Given the description of an element on the screen output the (x, y) to click on. 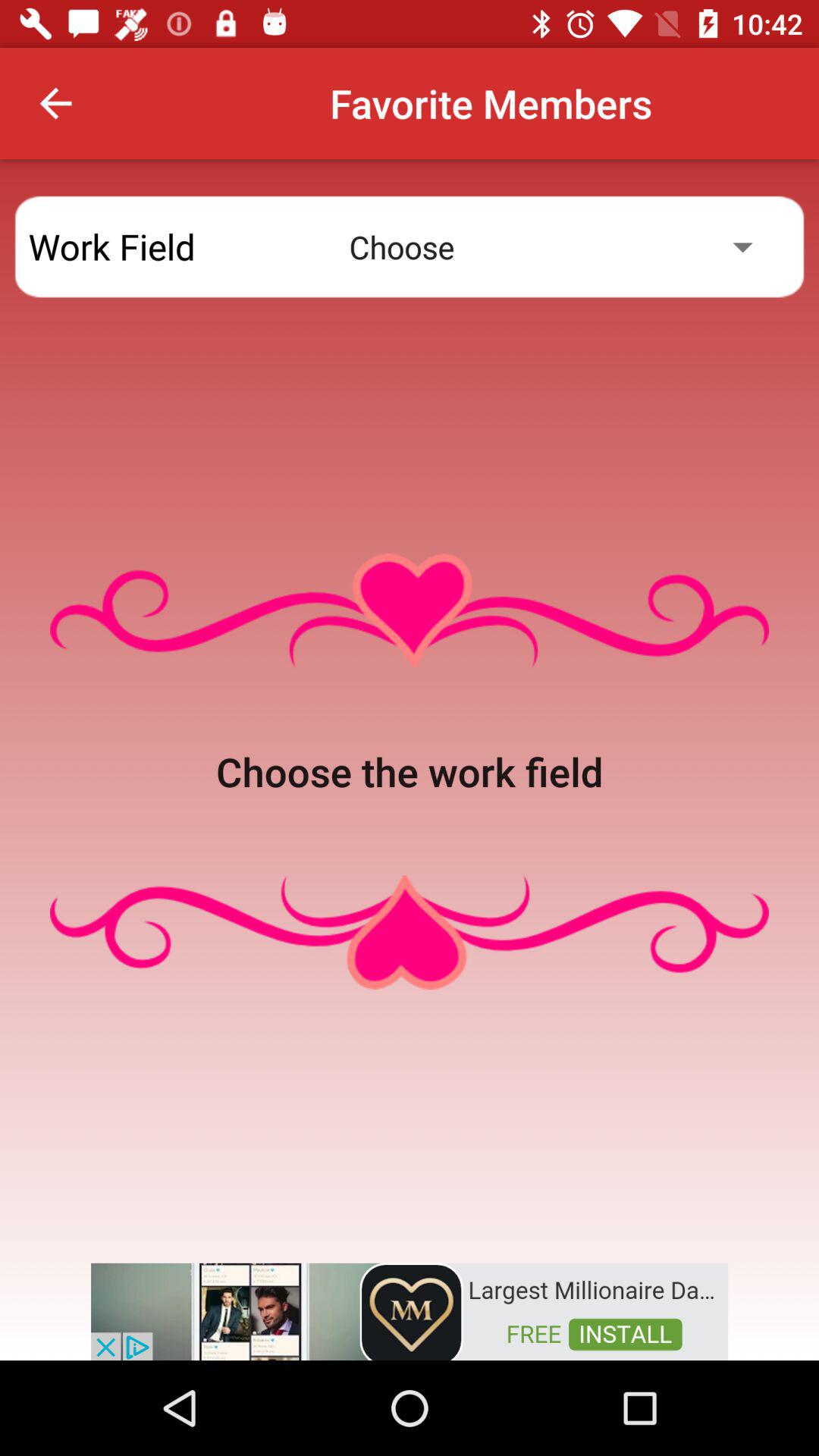
advertisement for millionaire dating site (409, 1310)
